Given the description of an element on the screen output the (x, y) to click on. 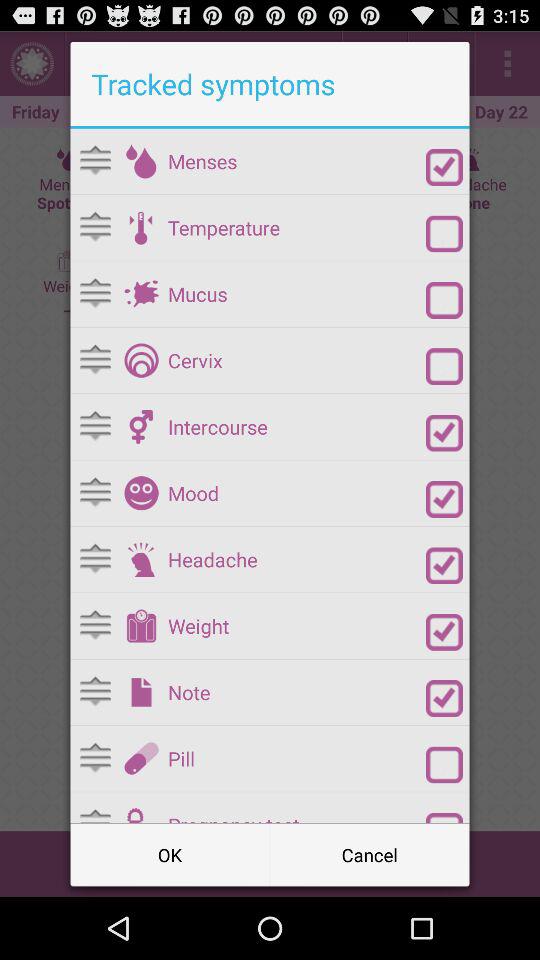
turn on headache app (296, 559)
